Given the description of an element on the screen output the (x, y) to click on. 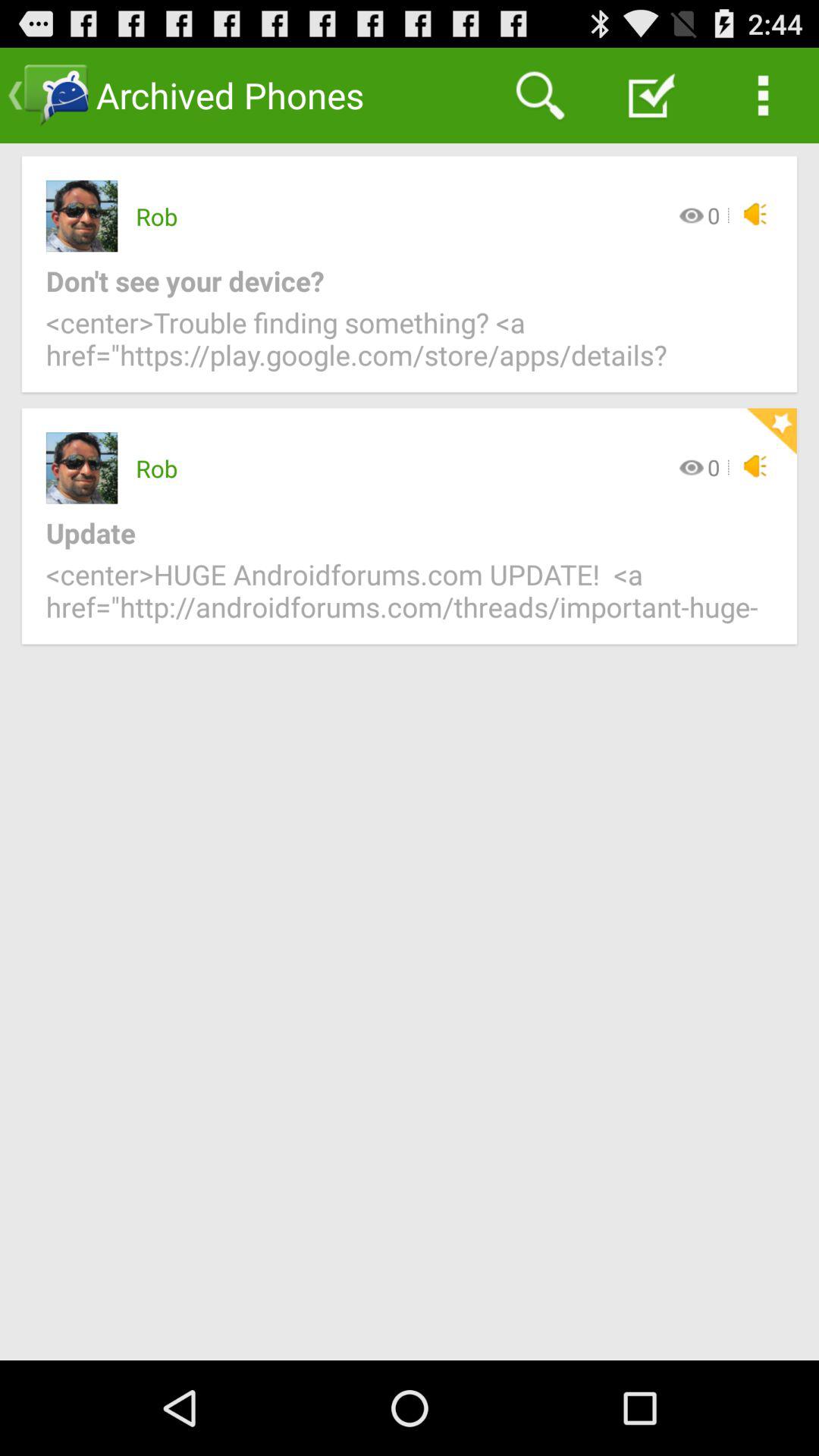
open the center huge androidforums item (409, 599)
